Given the description of an element on the screen output the (x, y) to click on. 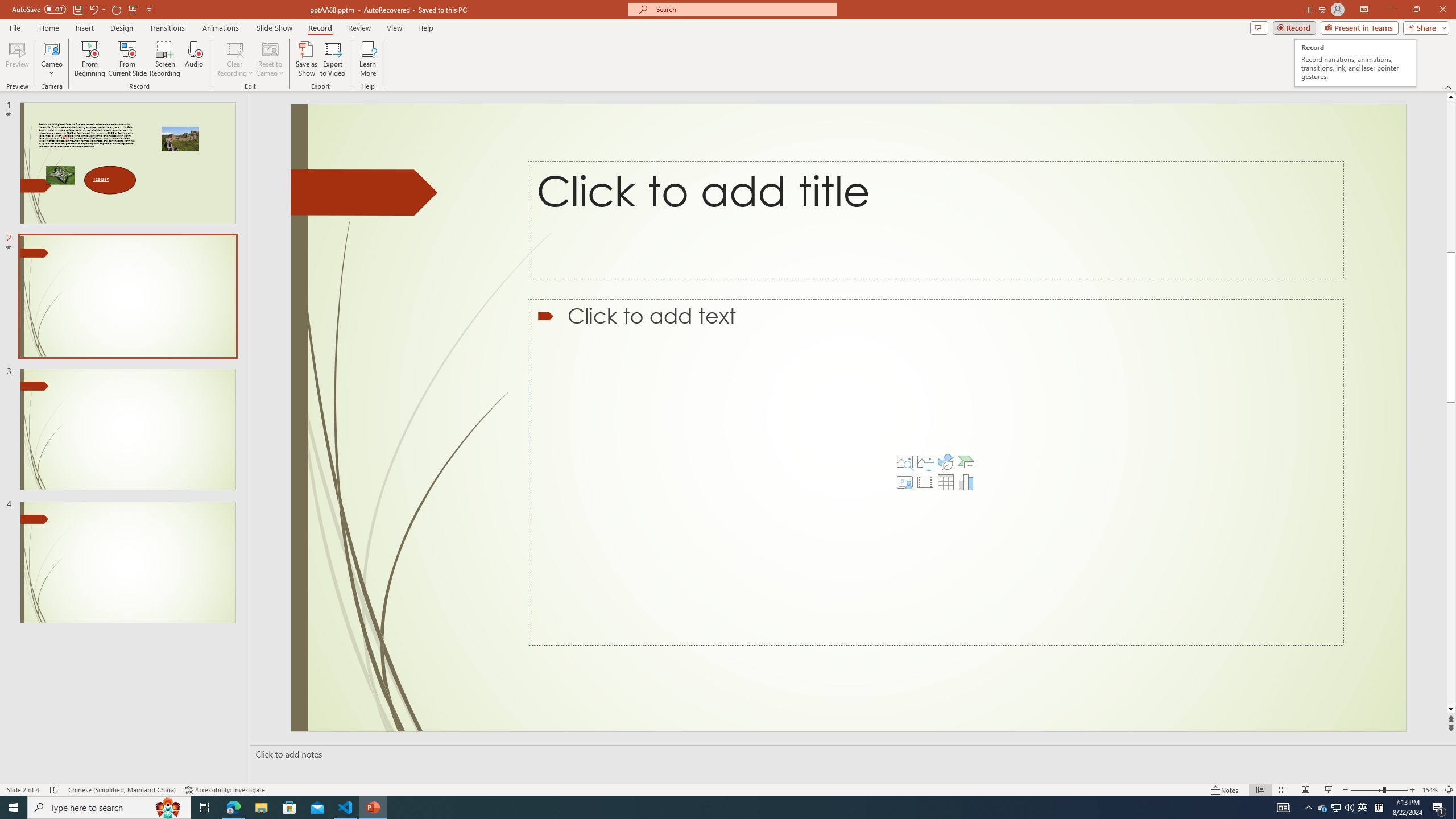
Insert Table (945, 482)
Insert Cameo (904, 482)
From Current Slide... (127, 58)
